Given the description of an element on the screen output the (x, y) to click on. 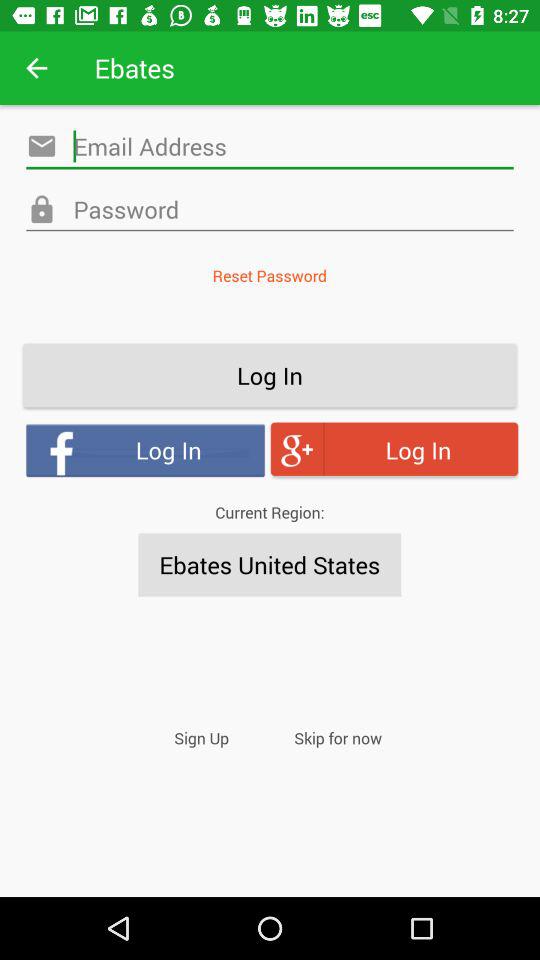
launch item next to sign up item (337, 737)
